Given the description of an element on the screen output the (x, y) to click on. 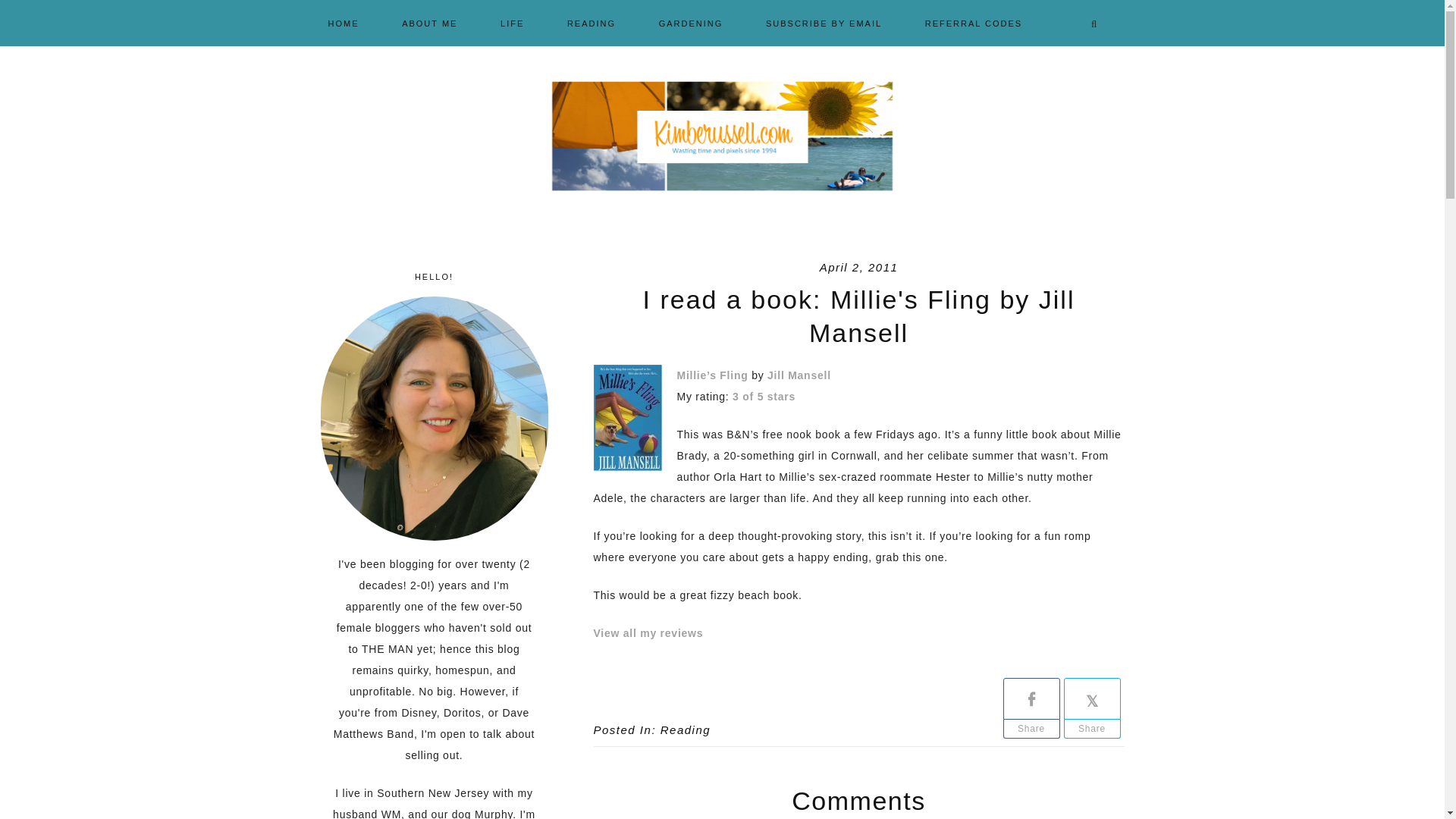
Reading (685, 729)
View all my reviews (647, 633)
Share (1090, 728)
Share (1031, 728)
Jill Mansell (799, 375)
REFERRAL CODES (973, 22)
READING (590, 22)
GARDENING (690, 22)
HOME (352, 22)
ABOUT ME (429, 22)
LIFE (511, 22)
3 of 5 stars (763, 396)
SUBSCRIBE BY EMAIL (823, 22)
KIMBERUSSELL.COM (721, 136)
